Given the description of an element on the screen output the (x, y) to click on. 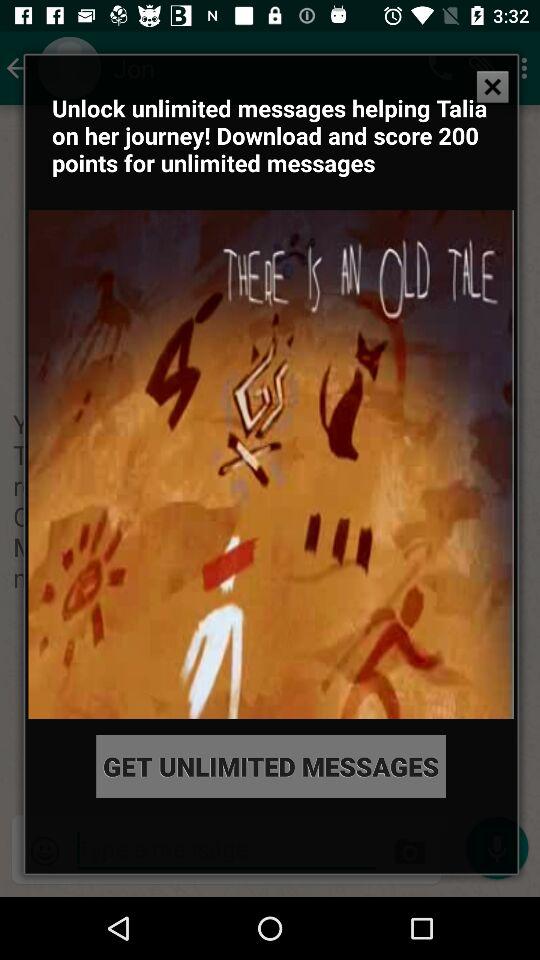
close window (492, 87)
